Given the description of an element on the screen output the (x, y) to click on. 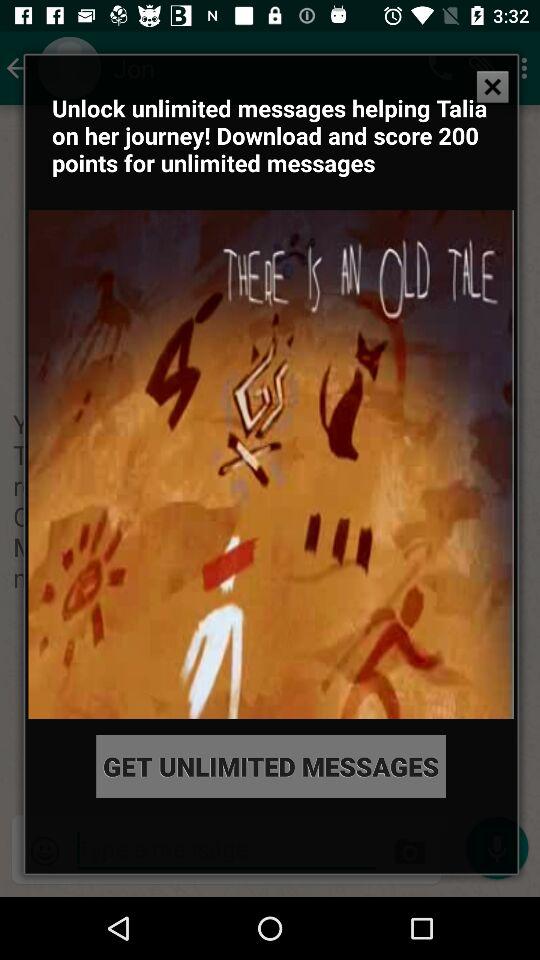
close window (492, 87)
